Given the description of an element on the screen output the (x, y) to click on. 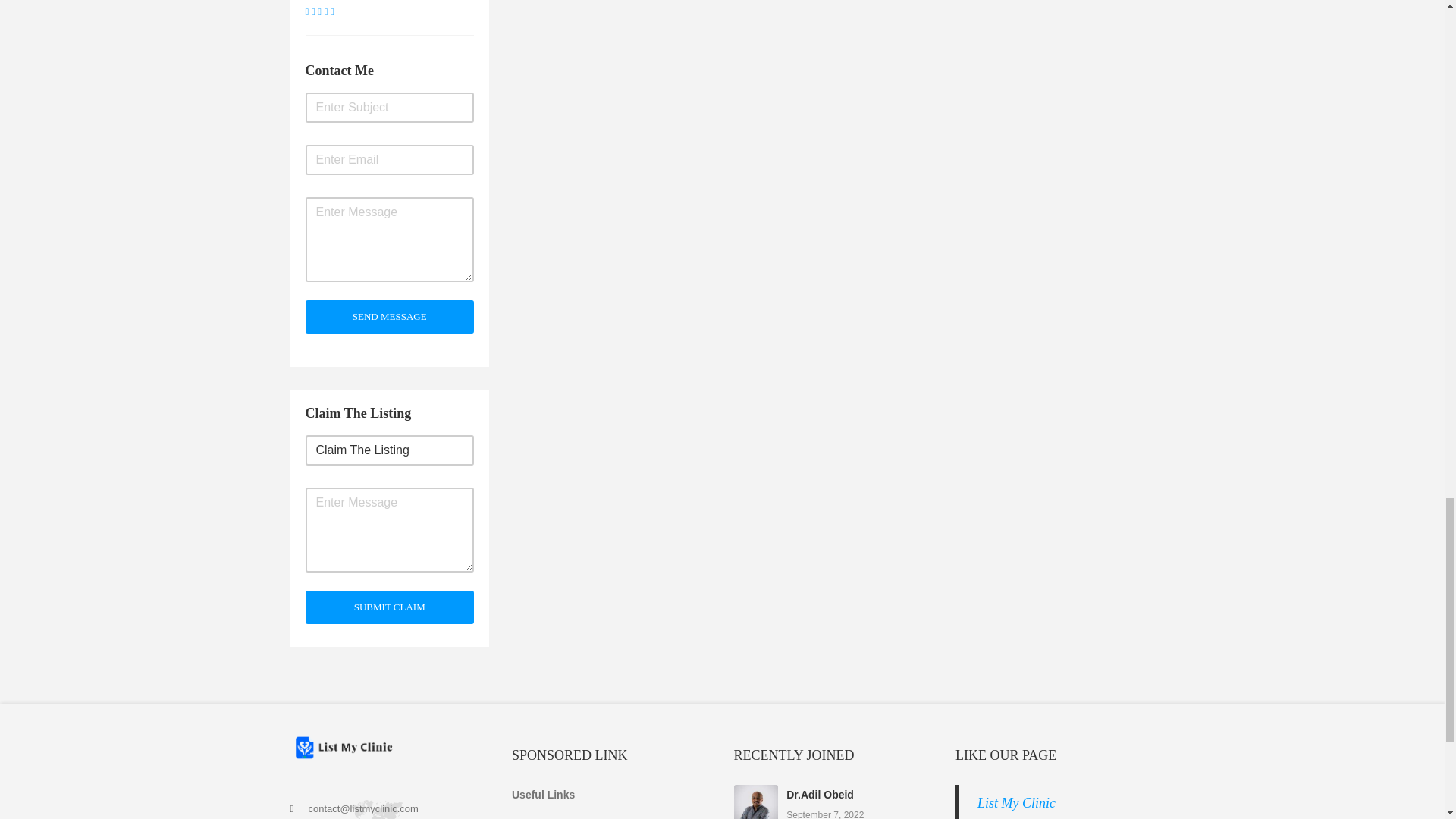
Claim The Listing (389, 450)
Claim The Listing (389, 450)
